Given the description of an element on the screen output the (x, y) to click on. 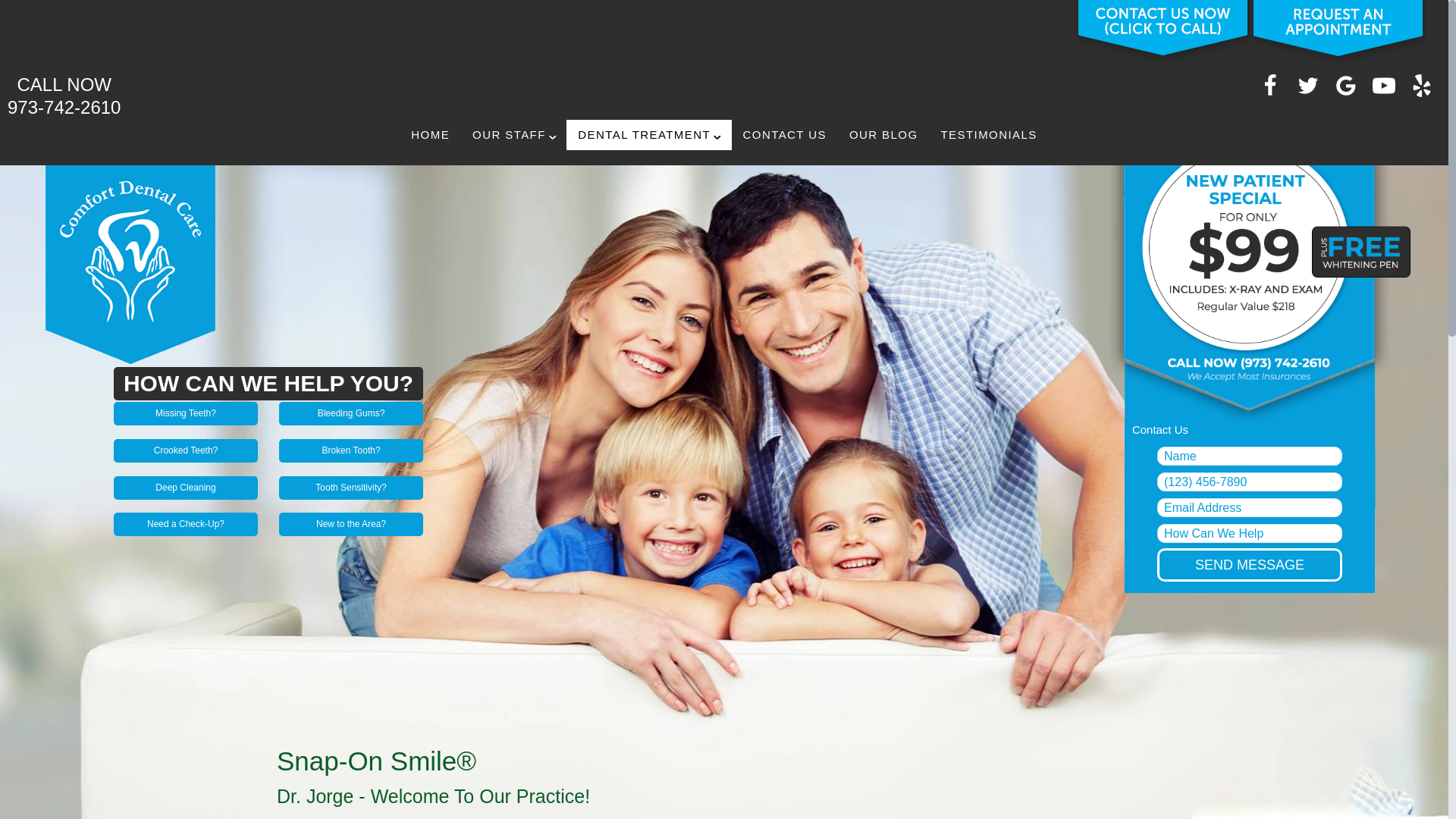
OUR STAFF (513, 134)
HOME (429, 134)
DENTAL TREATMENT (63, 95)
